Given the description of an element on the screen output the (x, y) to click on. 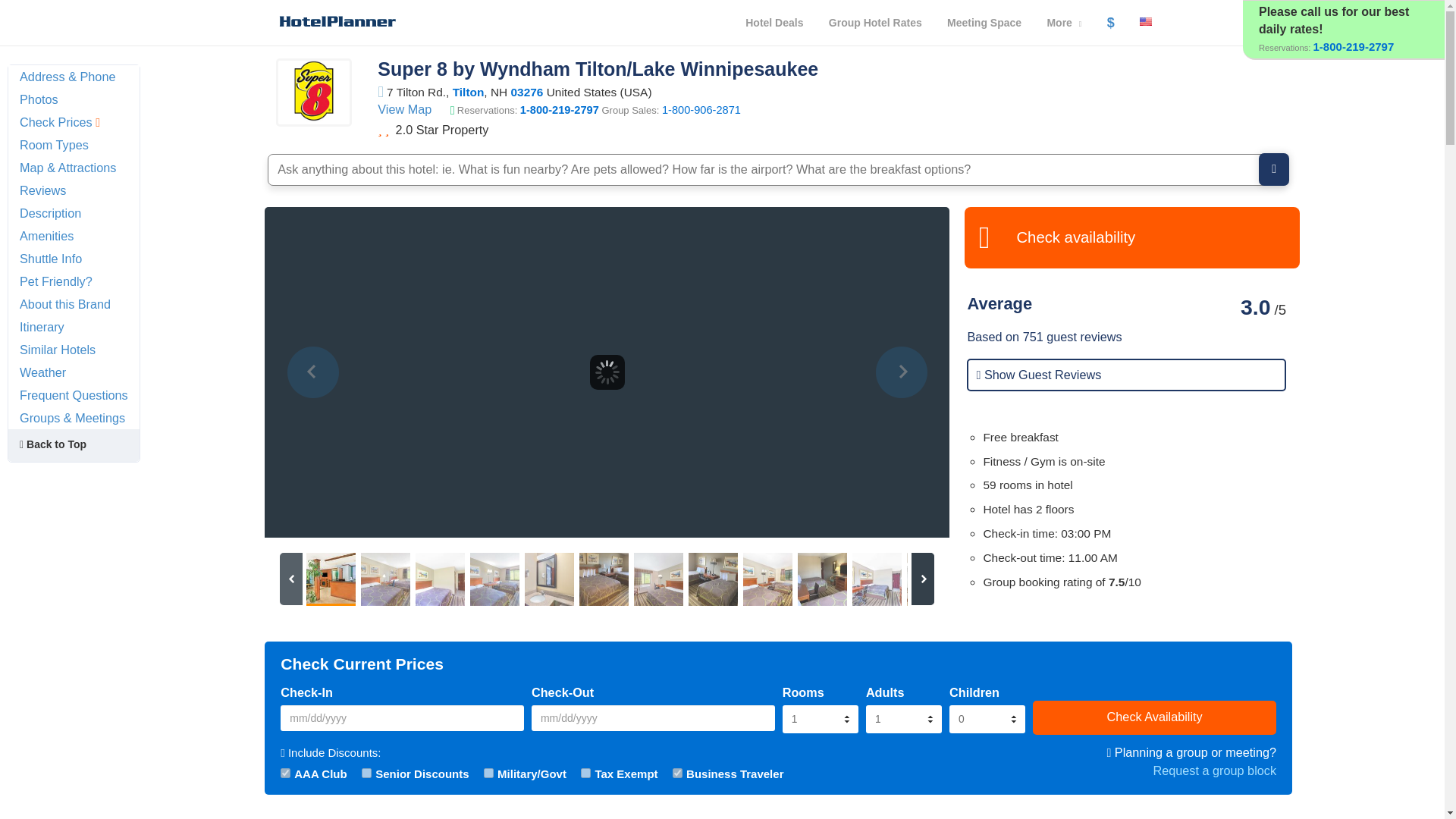
More (1064, 22)
Meeting Space (984, 22)
1 (585, 773)
1 (366, 773)
Group Hotel Rates (874, 22)
Hotel Deals (773, 22)
03276 (527, 91)
View Map (403, 109)
1 (677, 773)
1 (285, 773)
1 (488, 773)
Tilton (468, 91)
